Given the description of an element on the screen output the (x, y) to click on. 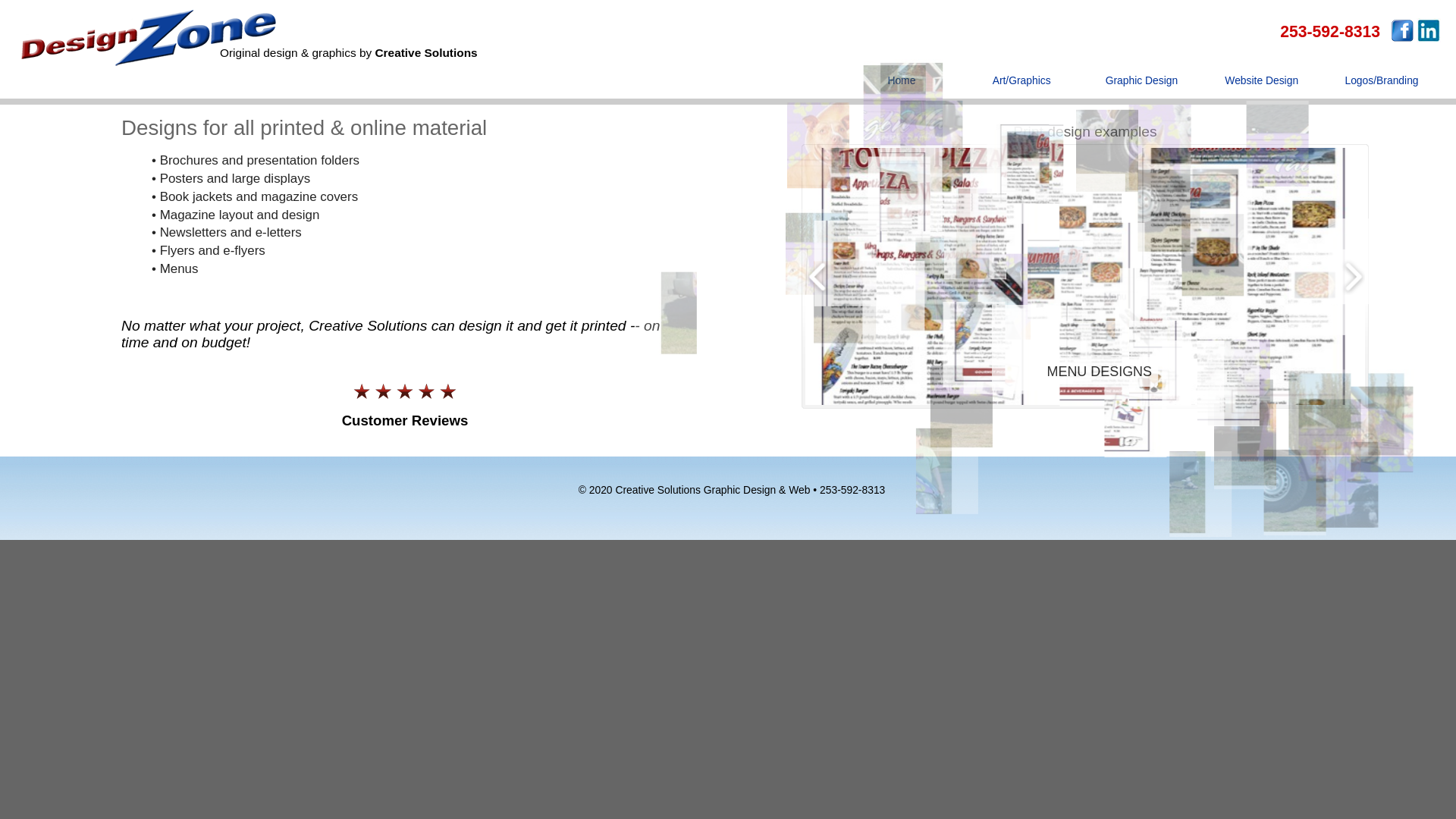
Art/Graphics Element type: text (1021, 87)
Creative Solutions LinkedIn page Element type: hover (1428, 30)
    Home     Element type: text (901, 87)
Graphic Design Element type: text (1141, 87)
Logos/Branding Element type: text (1381, 87)
253-592-8313 Element type: text (1330, 31)
Website Design Element type: text (1261, 87)
Creative Solutions facebook page Element type: hover (1401, 29)
Customer Reviews Element type: text (405, 420)
